Given the description of an element on the screen output the (x, y) to click on. 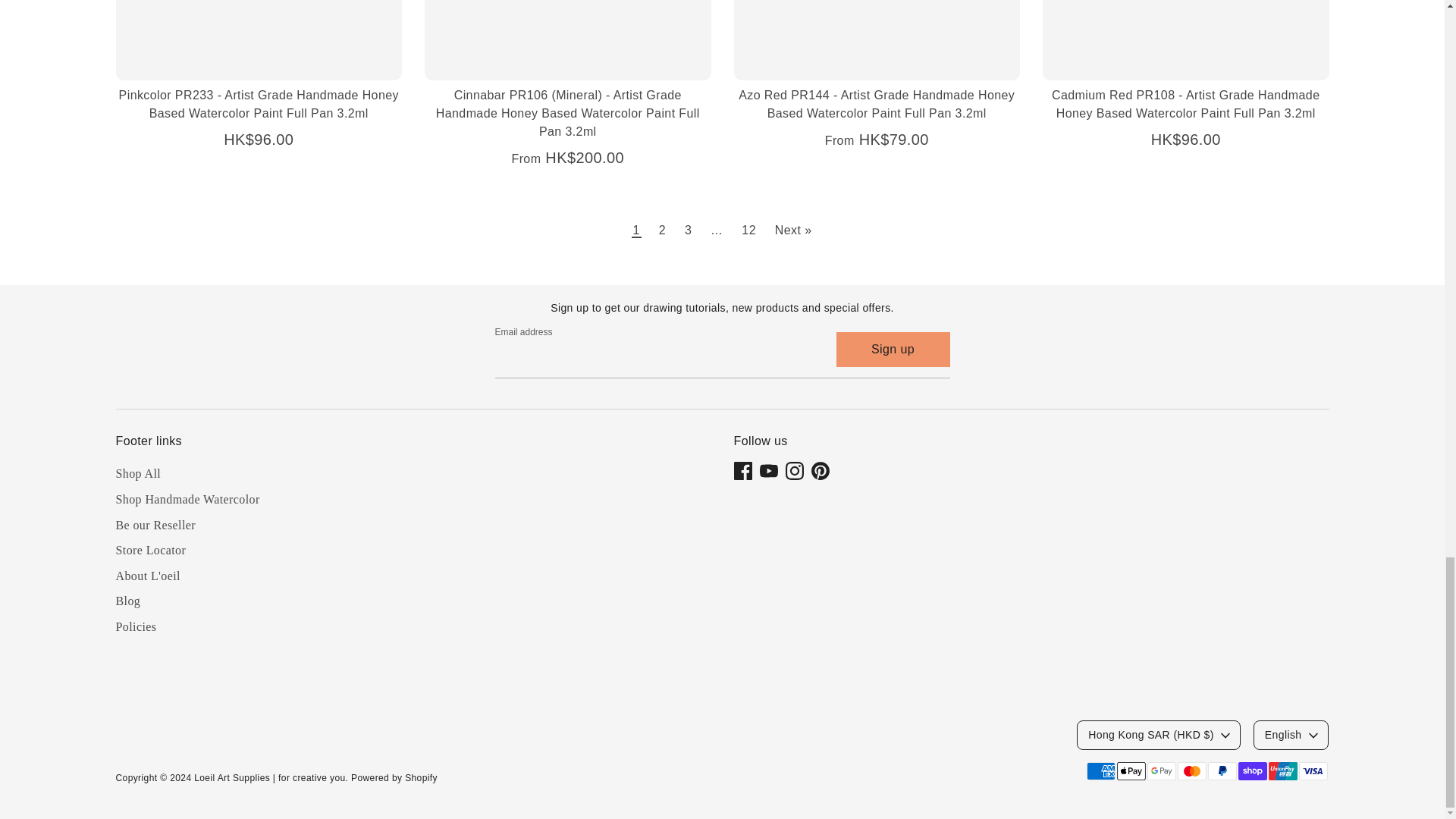
American Express (1100, 771)
Google Pay (1160, 771)
Apple Pay (1130, 771)
PayPal (1221, 771)
Mastercard (1190, 771)
